Given the description of an element on the screen output the (x, y) to click on. 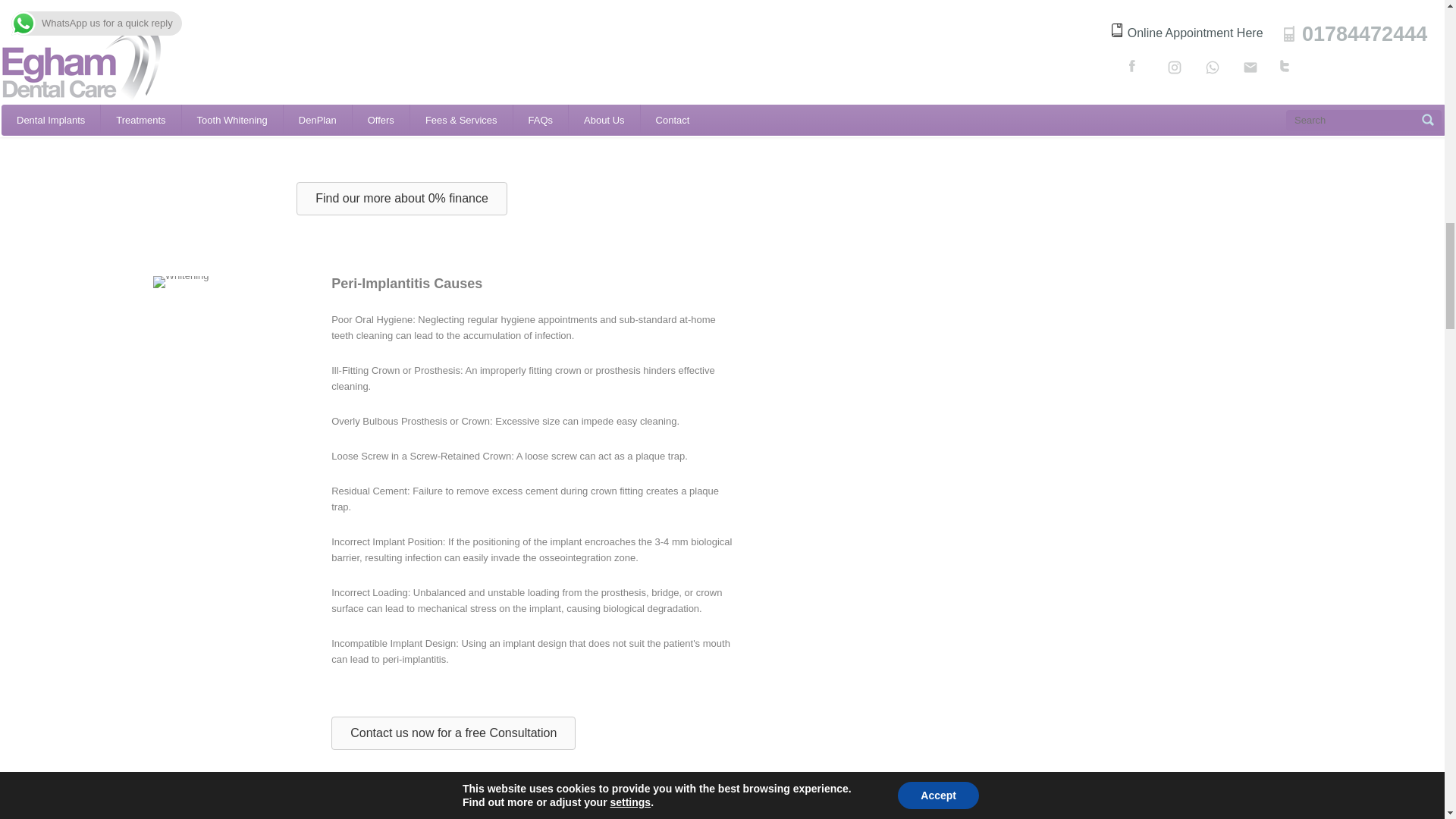
Whitening (180, 282)
Whitening (619, 814)
